Given the description of an element on the screen output the (x, y) to click on. 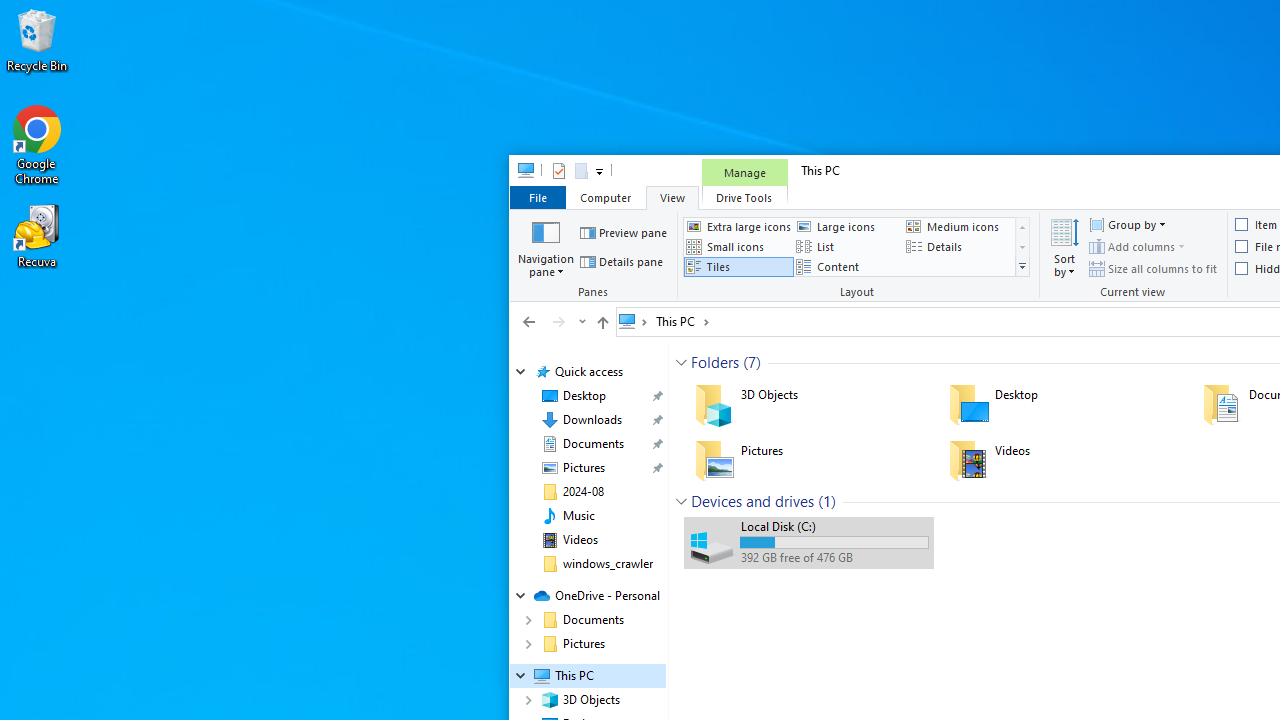
Videos (1062, 460)
Current view (1134, 255)
Layout (859, 255)
Computer (605, 196)
Small icons (738, 246)
Properties (558, 169)
windows_crawler (607, 564)
Space used (834, 542)
Add columns (1136, 246)
List (848, 246)
Quick access (588, 371)
Collapse Group (681, 501)
Pictures (pinned) (583, 467)
Pictures (808, 460)
Preview pane (623, 232)
